Given the description of an element on the screen output the (x, y) to click on. 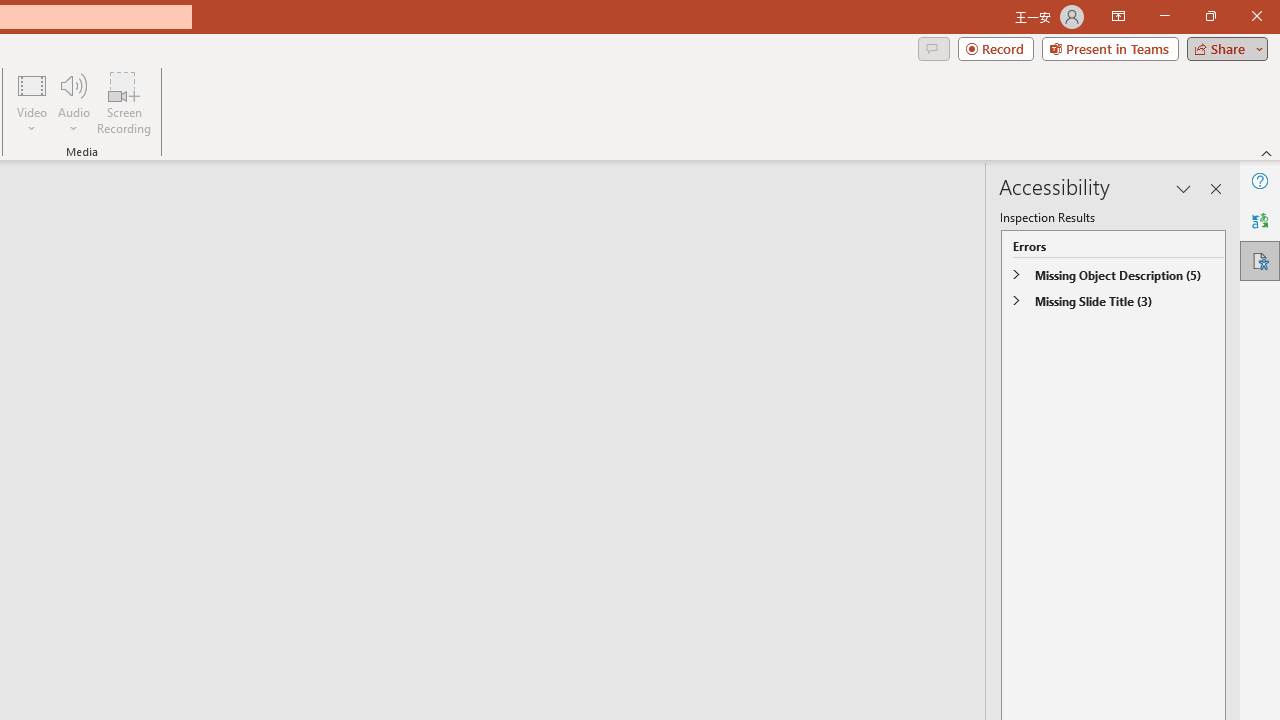
Collapse the Ribbon (1267, 152)
Close pane (1215, 188)
Comments (933, 48)
Record (995, 48)
Present in Teams (1109, 48)
Help (1260, 180)
Screen Recording... (123, 102)
Accessibility (1260, 260)
Translator (1260, 220)
Task Pane Options (1183, 188)
Minimize (1164, 16)
Ribbon Display Options (1118, 16)
Close (1256, 16)
Audio (73, 102)
